Given the description of an element on the screen output the (x, y) to click on. 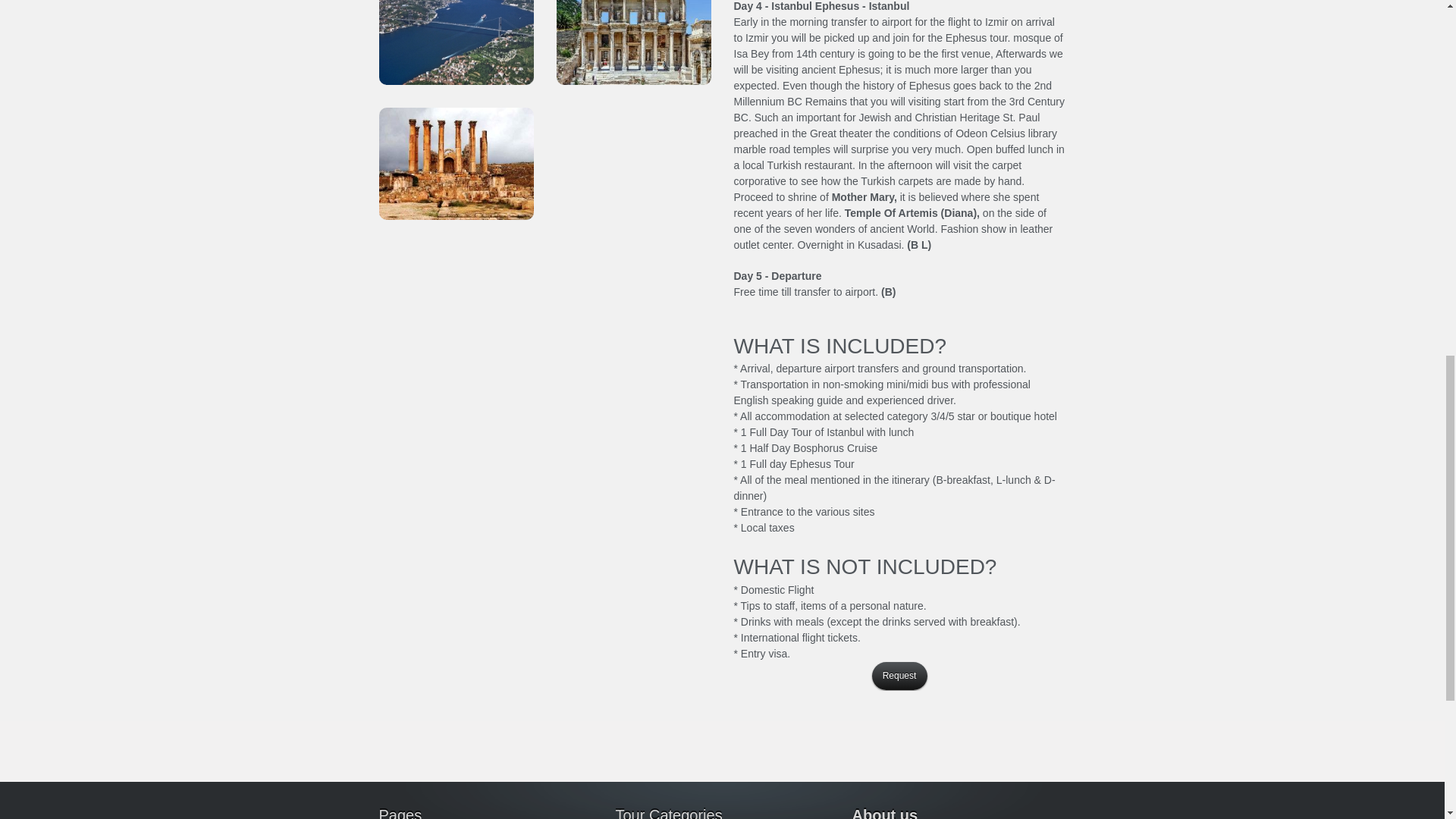
Request (900, 675)
